Given the description of an element on the screen output the (x, y) to click on. 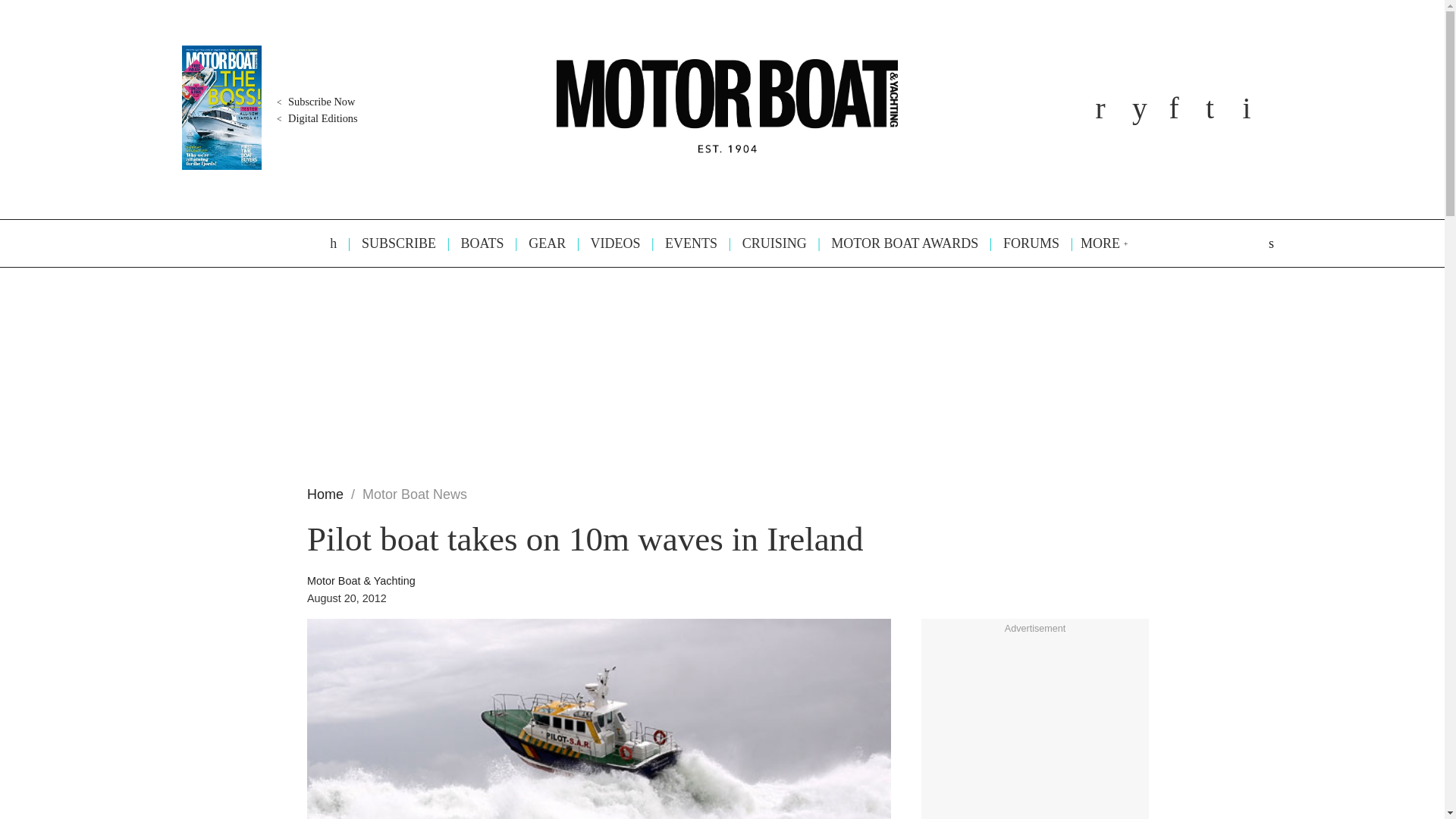
FORUMS (1023, 243)
MOTOR BOAT AWARDS (897, 243)
CRUISING (767, 243)
BOATS (474, 243)
EVENTS (683, 243)
VIDEOS (609, 243)
Subscribe Now (314, 101)
Digital Editions (315, 118)
GEAR (540, 243)
SUBSCRIBE (391, 243)
